Given the description of an element on the screen output the (x, y) to click on. 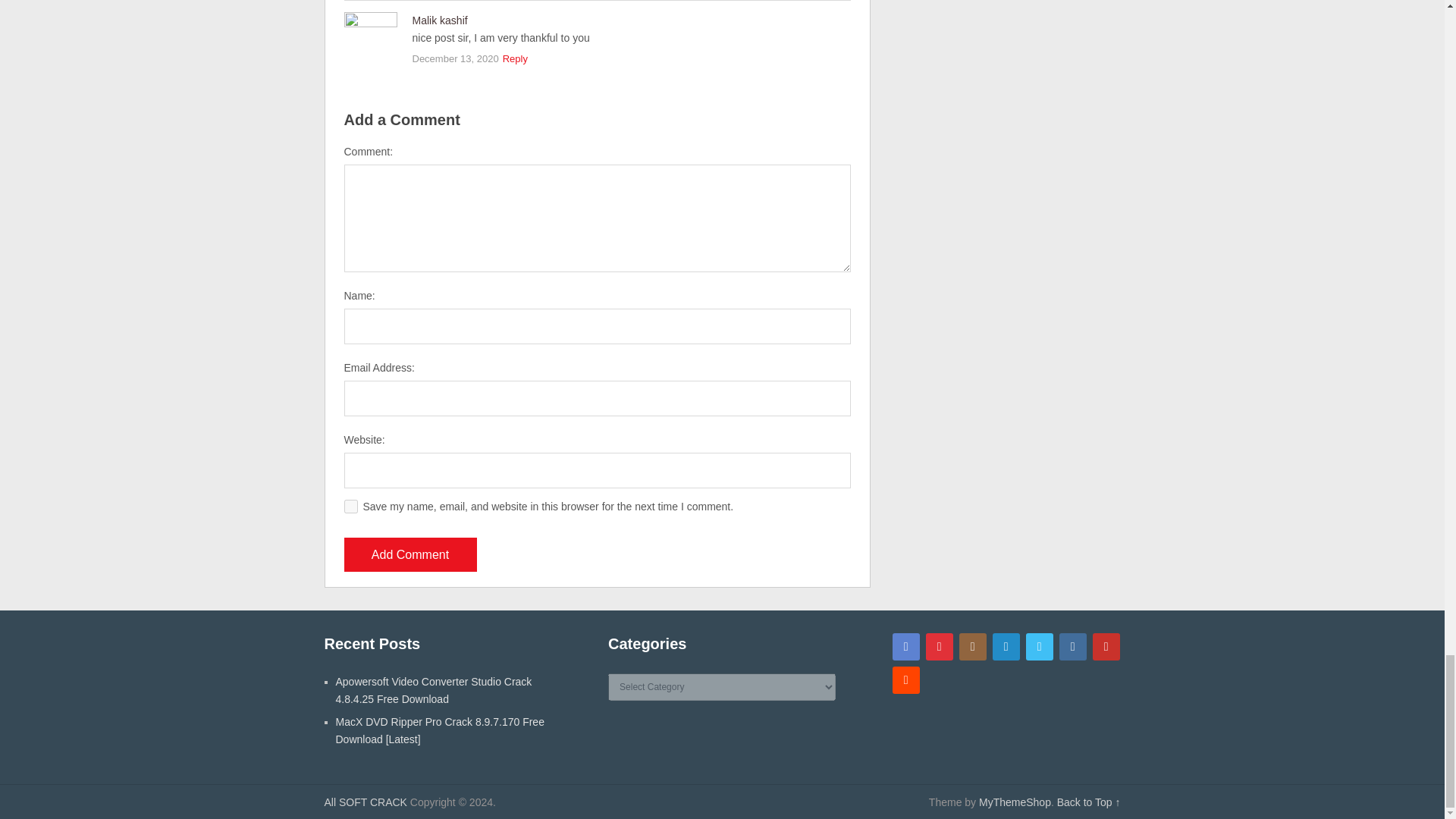
yes (350, 506)
Facebook (906, 646)
Add Comment (410, 554)
Pinterest (939, 646)
Instagram (973, 646)
